Given the description of an element on the screen output the (x, y) to click on. 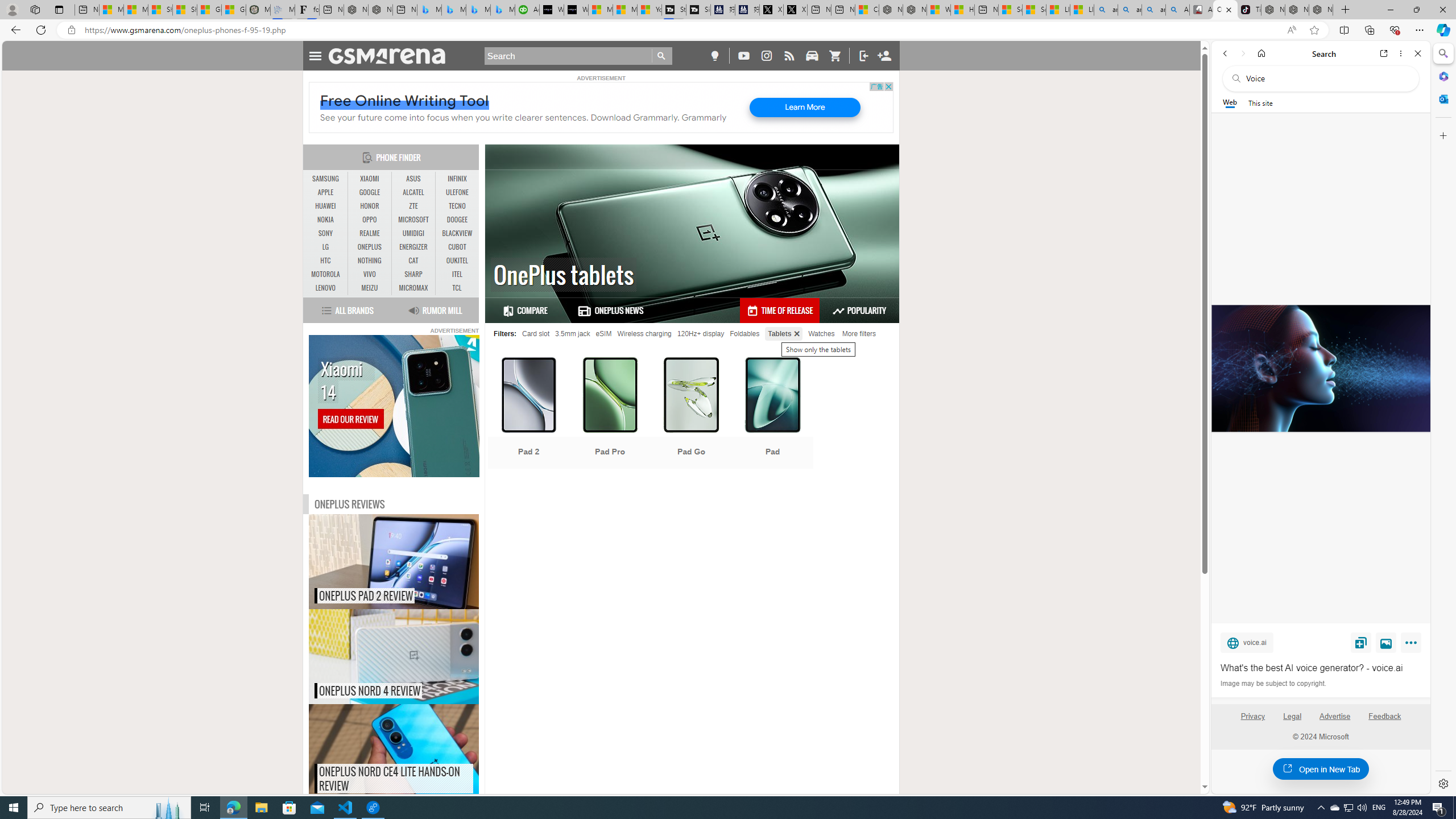
OUKITEL (457, 260)
HONOR (369, 206)
OnePlus Nord 4 review ONEPLUS NORD 4 REVIEW (393, 656)
MEIZU (369, 287)
MOTOROLA (325, 273)
Search the web (1326, 78)
Pad 2 (528, 413)
